Given the description of an element on the screen output the (x, y) to click on. 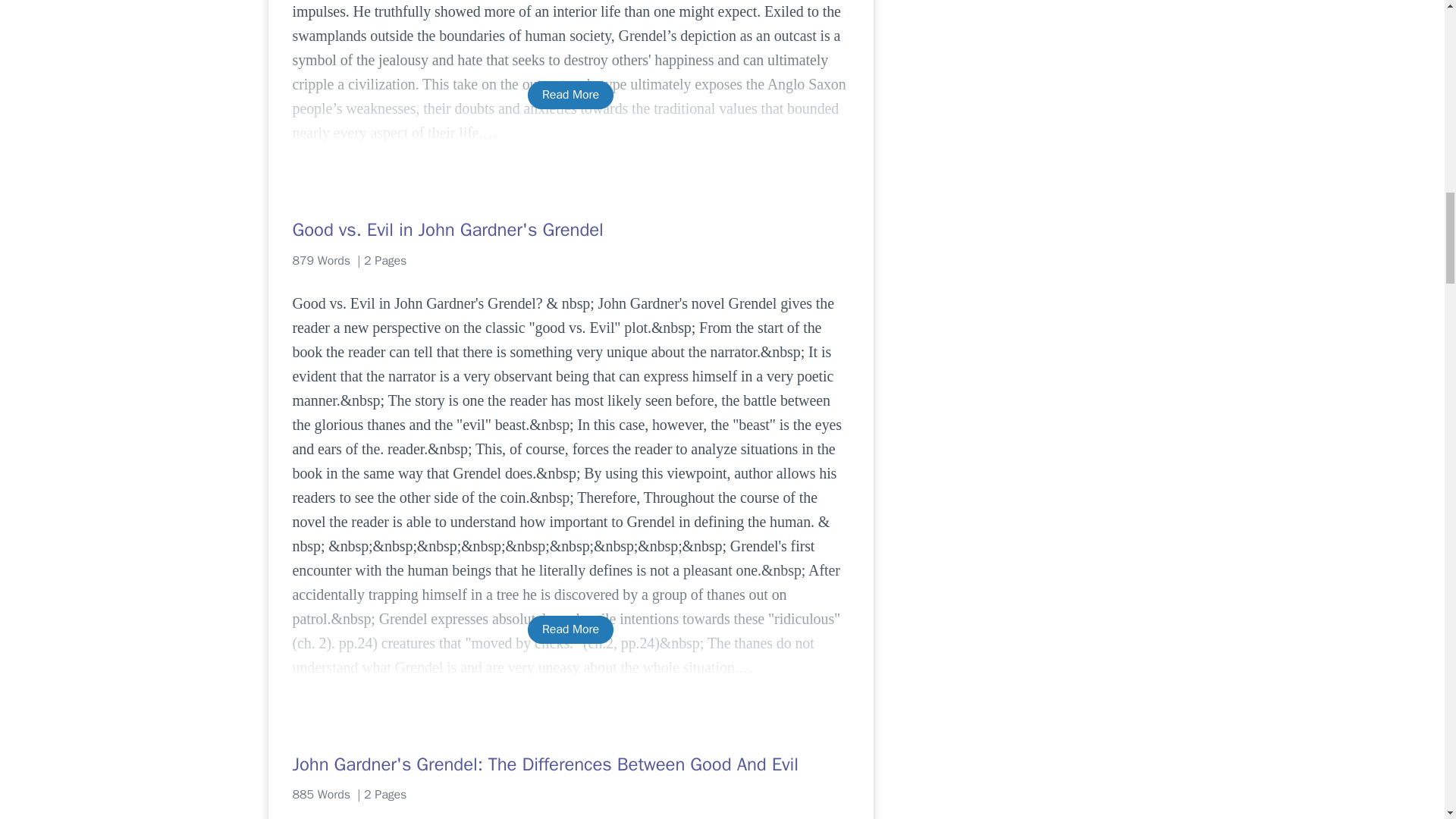
Read More (569, 94)
Good vs. Evil in John Gardner's Grendel (570, 229)
Read More (569, 629)
